Given the description of an element on the screen output the (x, y) to click on. 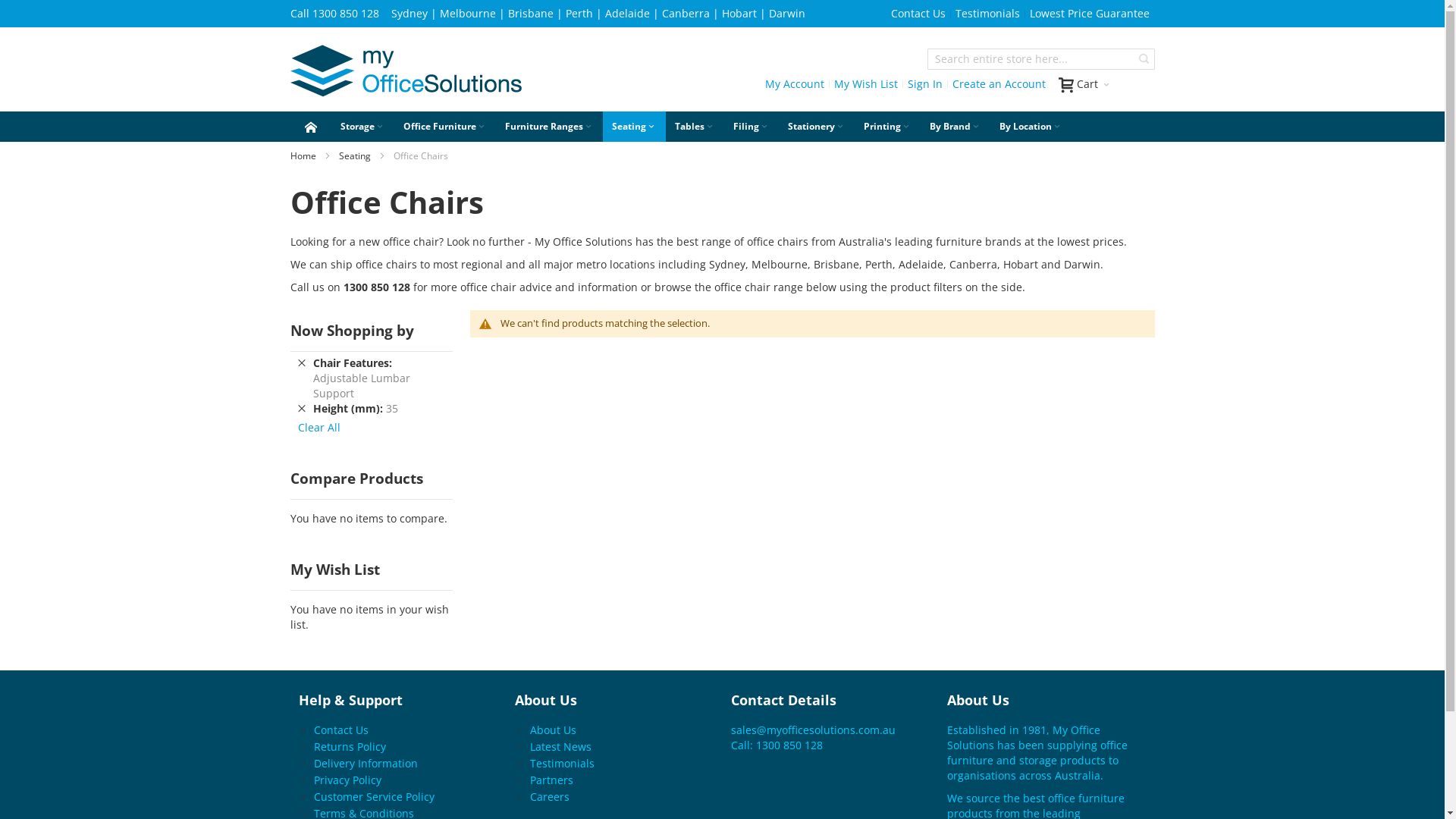
Remove This Item Element type: text (300, 362)
Office Furniture Element type: text (444, 126)
Home Element type: text (302, 155)
Testimonials Element type: text (562, 762)
Customer Service Policy Element type: text (373, 795)
Contact Us Element type: text (917, 13)
Seating Element type: text (354, 155)
Printing Element type: text (886, 126)
Remove This Item Element type: text (300, 407)
Delivery Information Element type: text (365, 762)
Storage Element type: text (361, 126)
Lowest Price Guarantee Element type: text (1088, 13)
By Brand Element type: text (955, 126)
Brisbane Element type: text (530, 13)
My Account Element type: text (794, 83)
My Wish List Element type: text (865, 83)
My Office Solutions Element type: hover (404, 72)
Filing Element type: text (750, 126)
Tables Element type: text (694, 126)
By Location Element type: text (1030, 126)
Latest News Element type: text (560, 745)
Partners Element type: text (551, 778)
Search Element type: hover (1144, 59)
Perth Element type: text (579, 13)
Returns Policy Element type: text (349, 745)
Contact Us Element type: text (340, 728)
Stationery Element type: text (815, 126)
Seating Element type: text (633, 126)
Furniture Ranges Element type: text (548, 126)
Create an Account Element type: text (998, 83)
Careers Element type: text (549, 795)
About Us Element type: text (553, 728)
Privacy Policy Element type: text (347, 778)
Sign In Element type: text (924, 83)
Melbourne Element type: text (467, 13)
Sydney Element type: text (409, 13)
Clear All Element type: text (318, 427)
Testimonials Element type: text (986, 13)
